Given the description of an element on the screen output the (x, y) to click on. 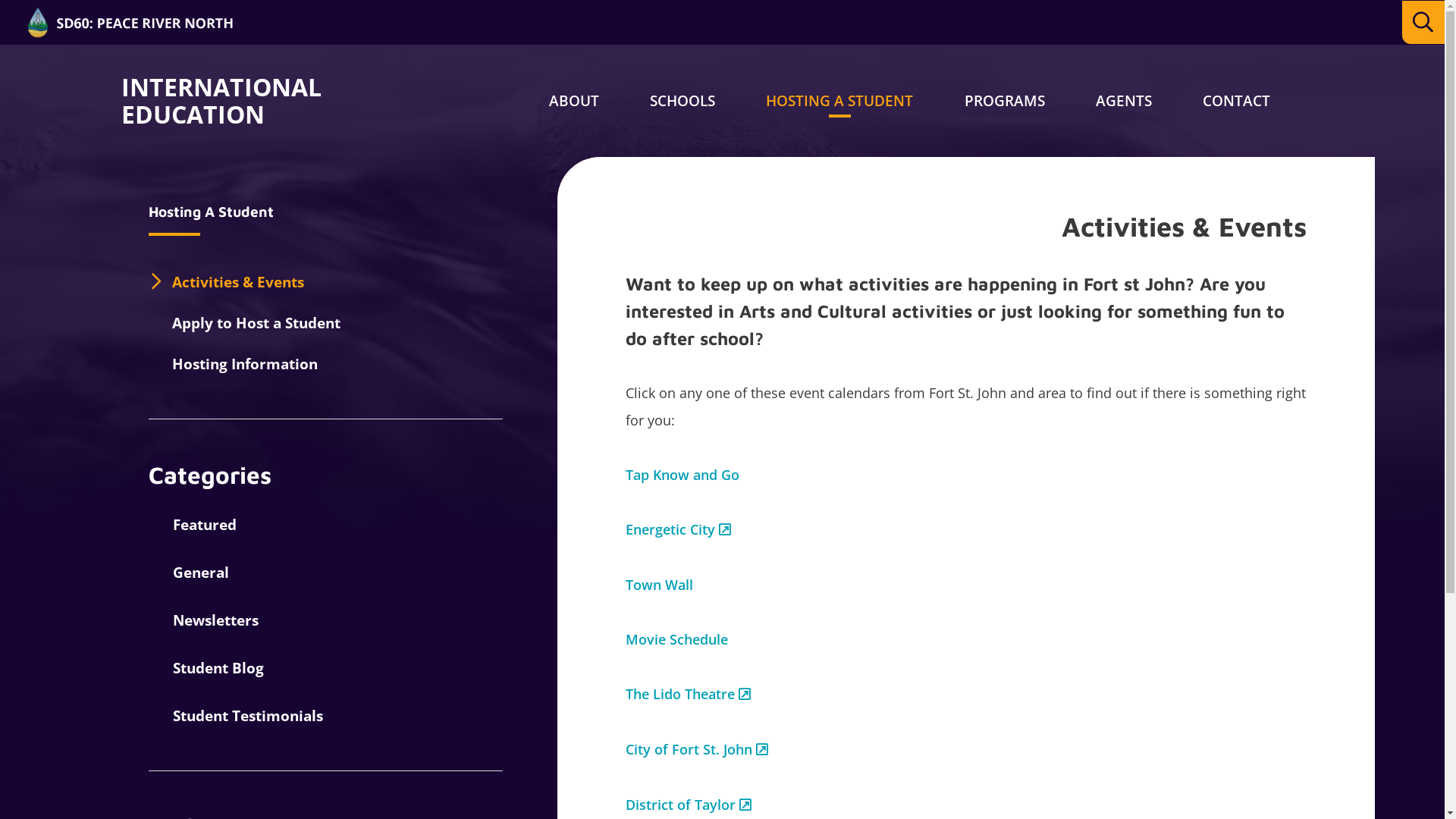
The Lido Theatre Element type: text (687, 693)
Tap Know and Go Element type: text (682, 474)
CONTACT Element type: text (1236, 100)
District of Taylor Element type: text (688, 804)
Student Blog Element type: text (205, 667)
HOSTING A STUDENT Element type: text (839, 100)
General Element type: text (188, 572)
Apply to Host a Student Element type: text (256, 322)
SCHOOLS Element type: text (682, 100)
Hosting A Student Element type: text (231, 211)
Energetic City Element type: text (678, 529)
Activities & Events Element type: text (238, 281)
ABOUT Element type: text (574, 100)
Featured Element type: text (192, 524)
Student Testimonials Element type: text (235, 715)
City of Fort St. John Element type: text (696, 749)
PROGRAMS Element type: text (1004, 100)
Newsletters Element type: text (203, 620)
Movie Schedule Element type: text (676, 639)
Hosting Information Element type: text (244, 363)
INTERNATIONAL EDUCATION Element type: text (206, 100)
Town Wall Element type: text (659, 584)
AGENTS Element type: text (1123, 100)
